Given the description of an element on the screen output the (x, y) to click on. 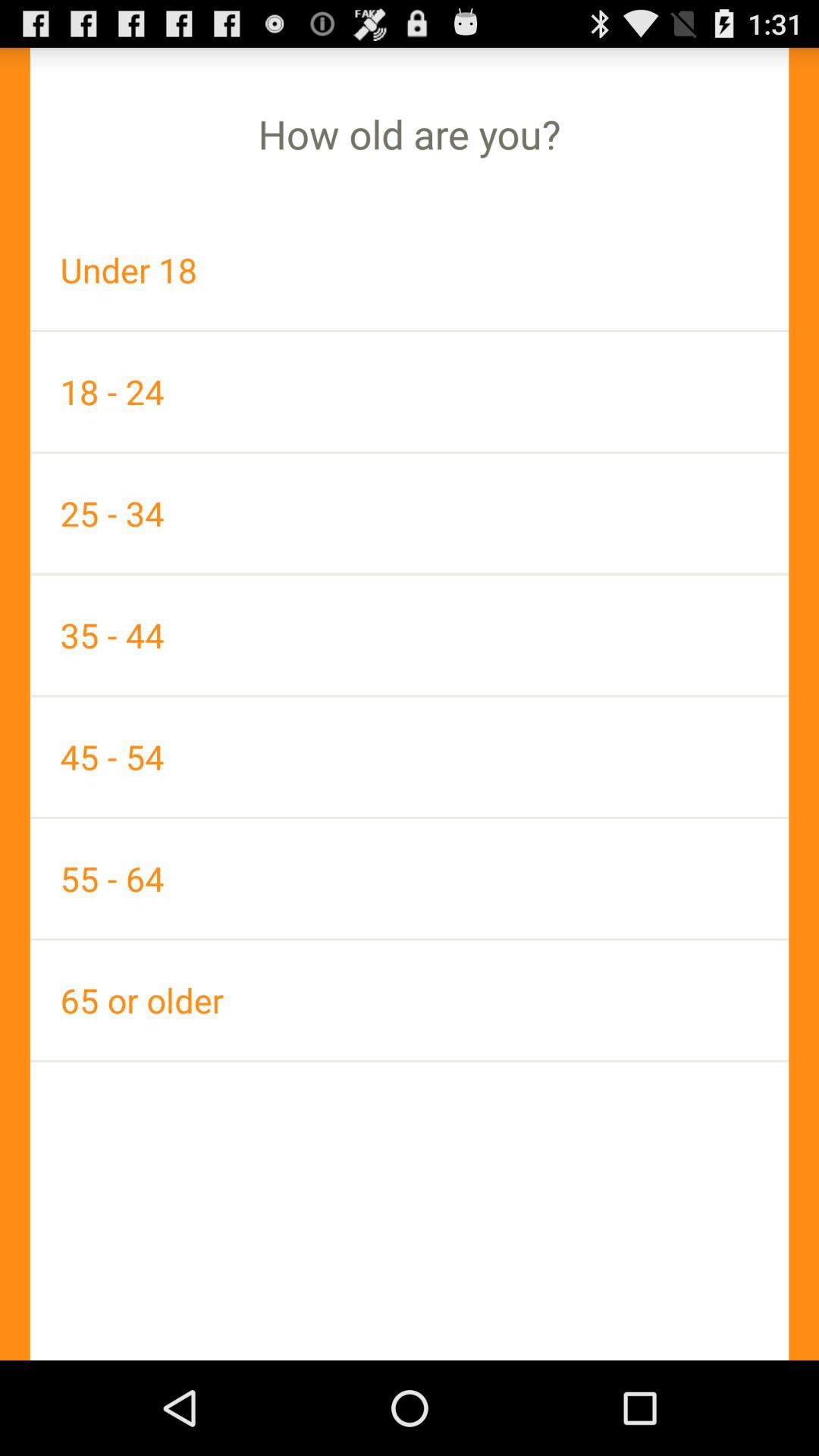
swipe until 25 - 34 (409, 513)
